Given the description of an element on the screen output the (x, y) to click on. 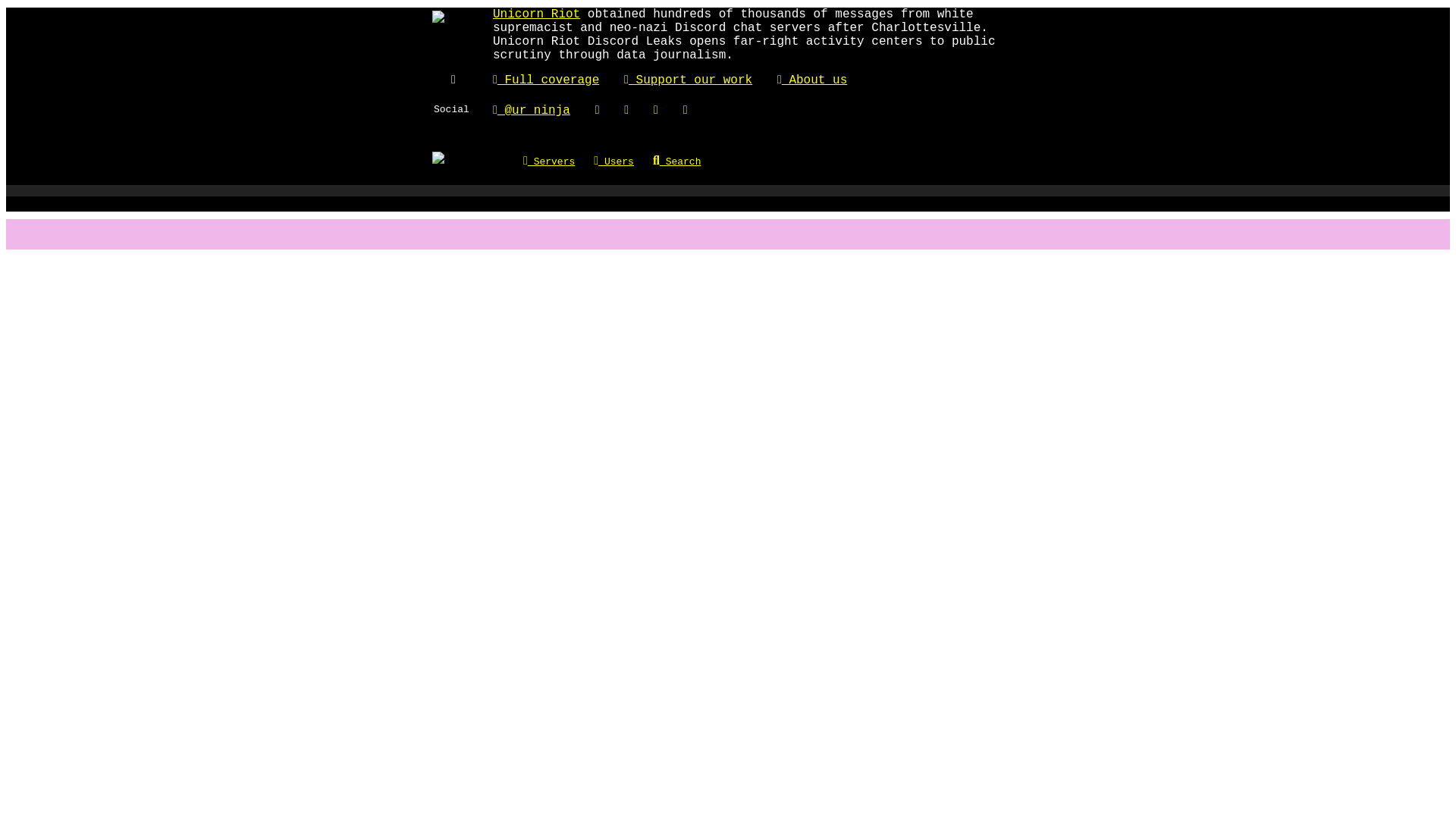
Search this database (686, 161)
Servers (558, 161)
Unicorn Riot Far-Right Investigations Desk (545, 79)
Search (686, 161)
Support our work (688, 79)
Home (438, 161)
About Unicorn Riot (812, 79)
Users (623, 161)
Show all servers (558, 161)
Unicorn Riot homepage (438, 19)
Show all users (623, 161)
Full coverage (545, 79)
Unicorn Riot (536, 14)
Support Unicorn Riot's work (688, 79)
Unicorn Riot homepage (536, 14)
